Given the description of an element on the screen output the (x, y) to click on. 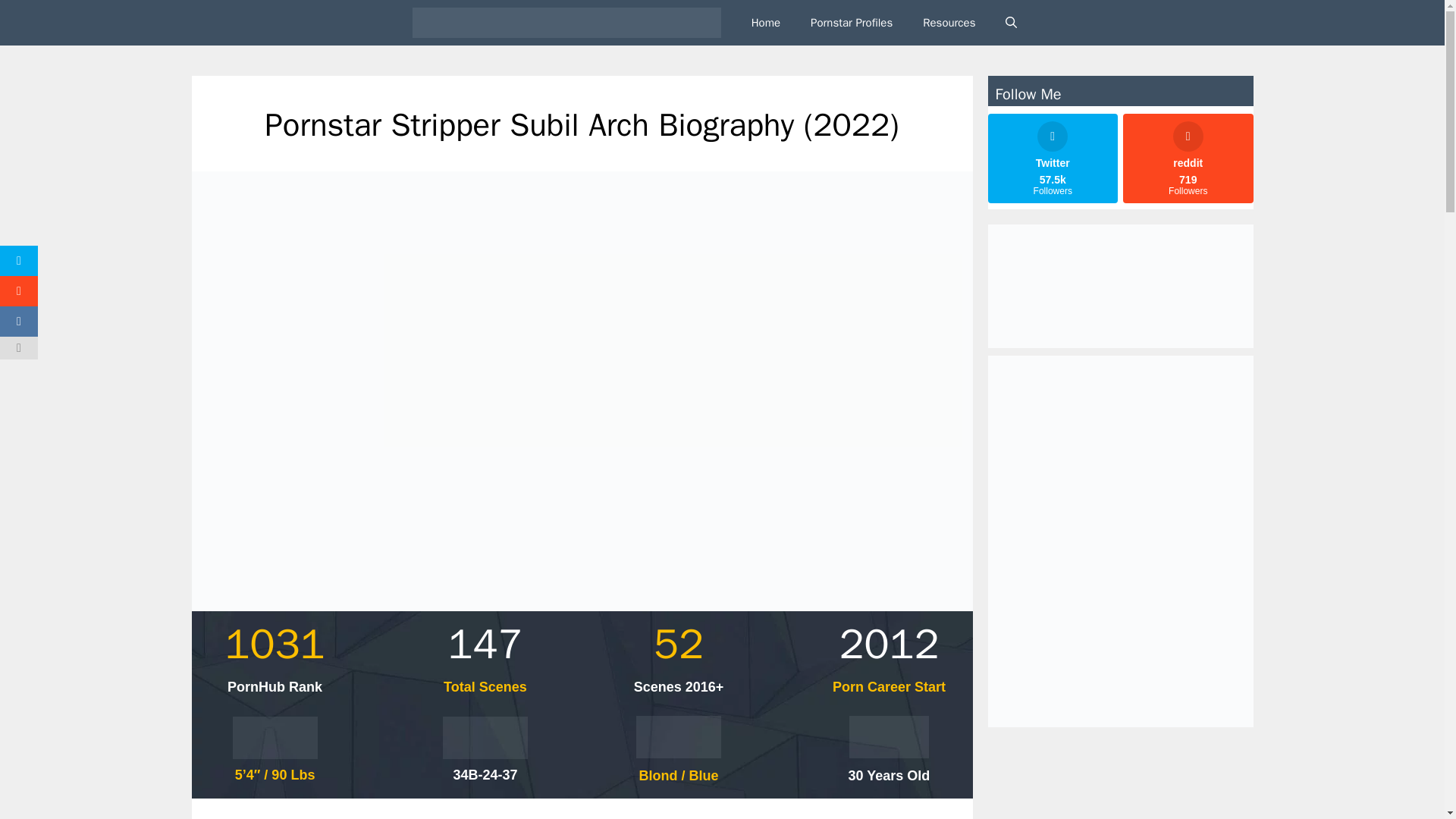
Resources (948, 22)
Strip Club HQ (566, 22)
Home (765, 22)
Strip Club HQ (570, 22)
Pornstar Profiles (850, 22)
